Given the description of an element on the screen output the (x, y) to click on. 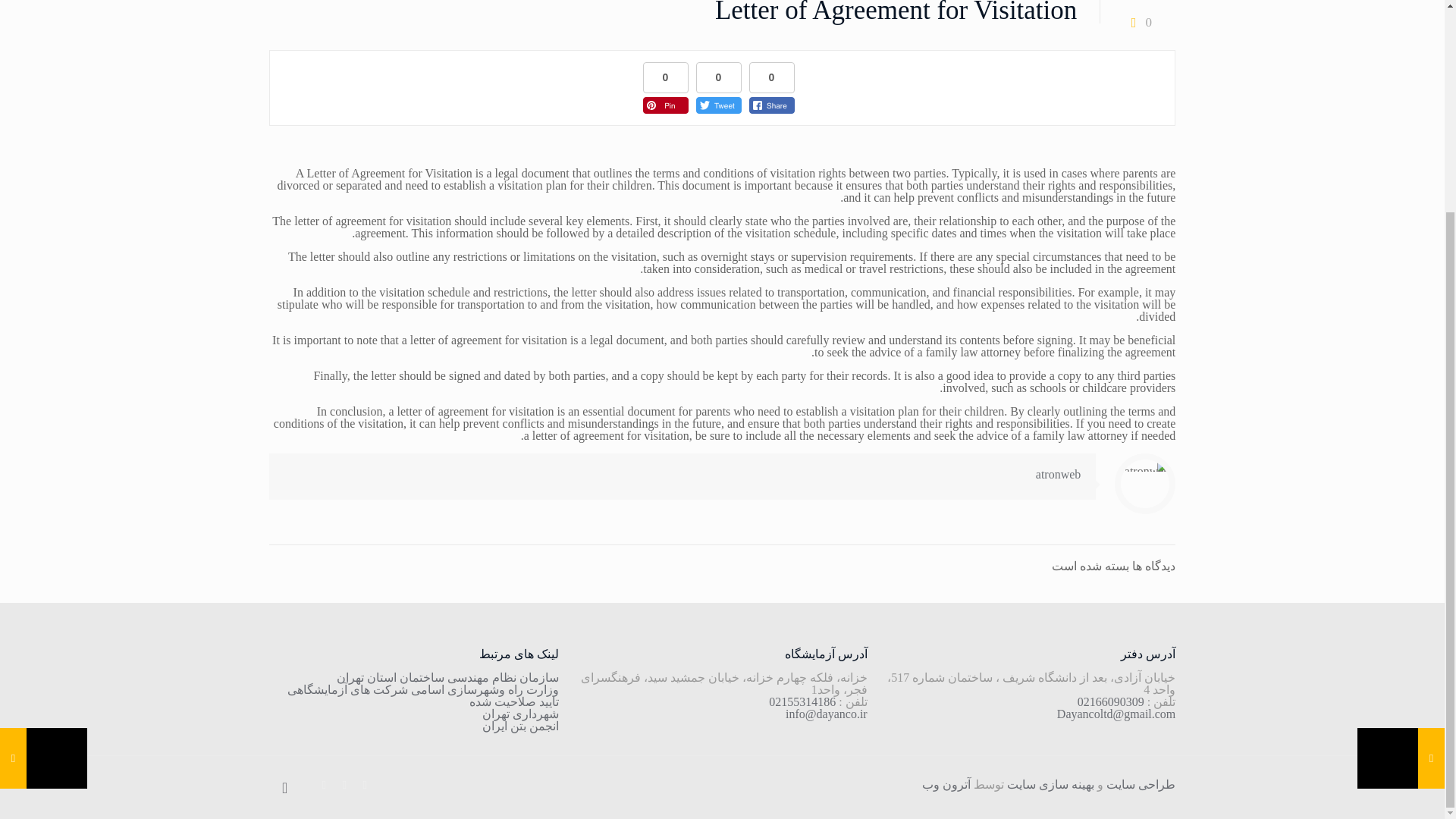
02155314186 (801, 701)
02166090309 (1110, 701)
Instagram (323, 784)
Twitter (344, 784)
Facebook (364, 784)
0 (1138, 21)
atronweb (1058, 473)
